Given the description of an element on the screen output the (x, y) to click on. 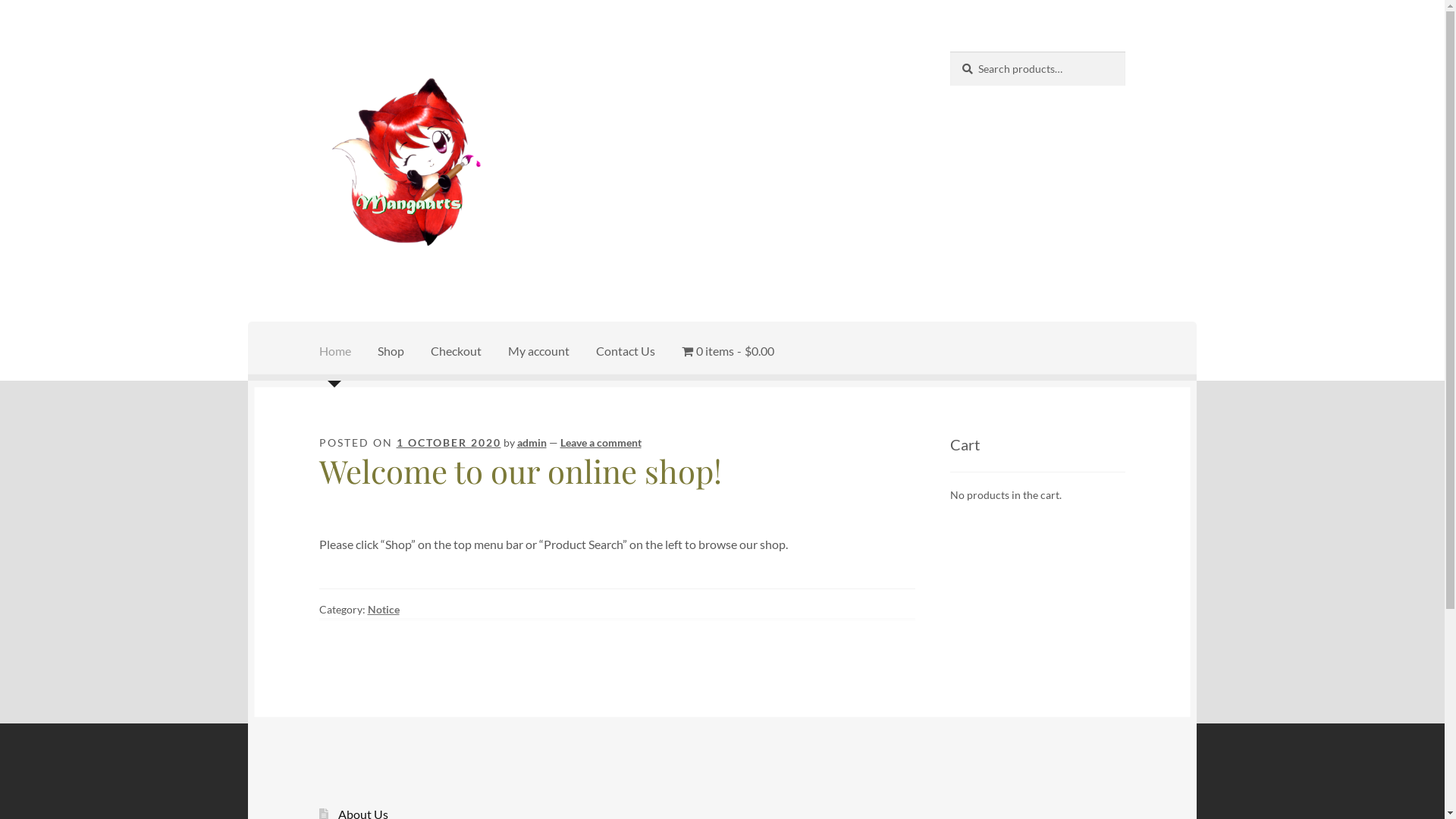
Home Element type: text (335, 350)
Leave a comment Element type: text (600, 442)
Skip to navigation Element type: text (318, 50)
Welcome to our online shop! Element type: text (520, 470)
0 items$0.00 Element type: text (727, 350)
Shop Element type: text (390, 350)
Contact Us Element type: text (625, 350)
My account Element type: text (538, 350)
Search Element type: text (949, 50)
Notice Element type: text (383, 608)
Checkout Element type: text (455, 350)
admin Element type: text (531, 442)
1 OCTOBER 2020 Element type: text (448, 442)
